Given the description of an element on the screen output the (x, y) to click on. 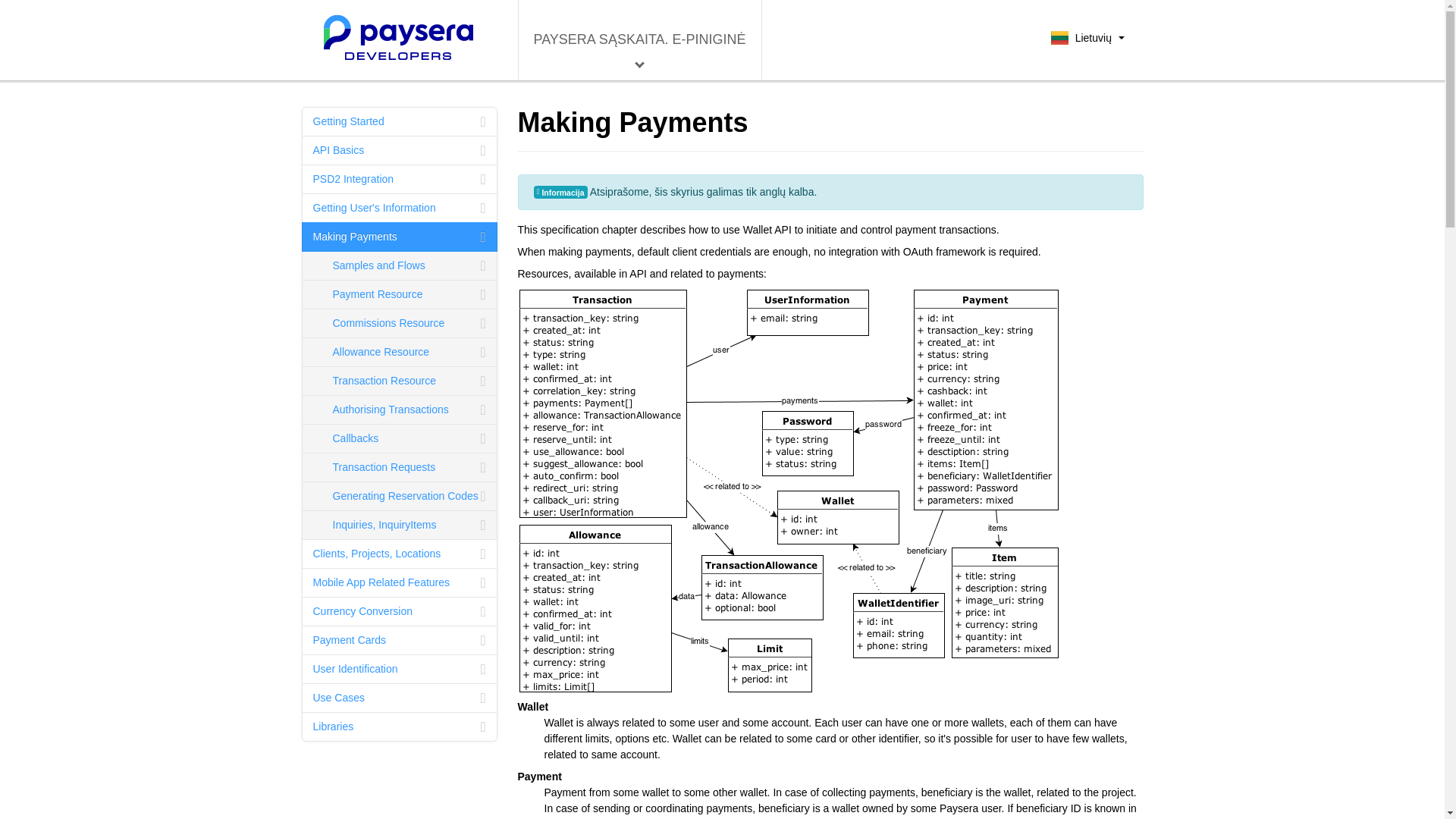
Generating Reservation Codes (399, 496)
Transaction Resource (399, 380)
Commissions Resource (399, 323)
API Basics (399, 150)
Inquiries, InquiryItems (399, 524)
User Identification (399, 668)
Authorising Transactions (399, 409)
Transaction Requests (399, 467)
Mobile App Related Features (399, 582)
Getting Started (399, 121)
